Given the description of an element on the screen output the (x, y) to click on. 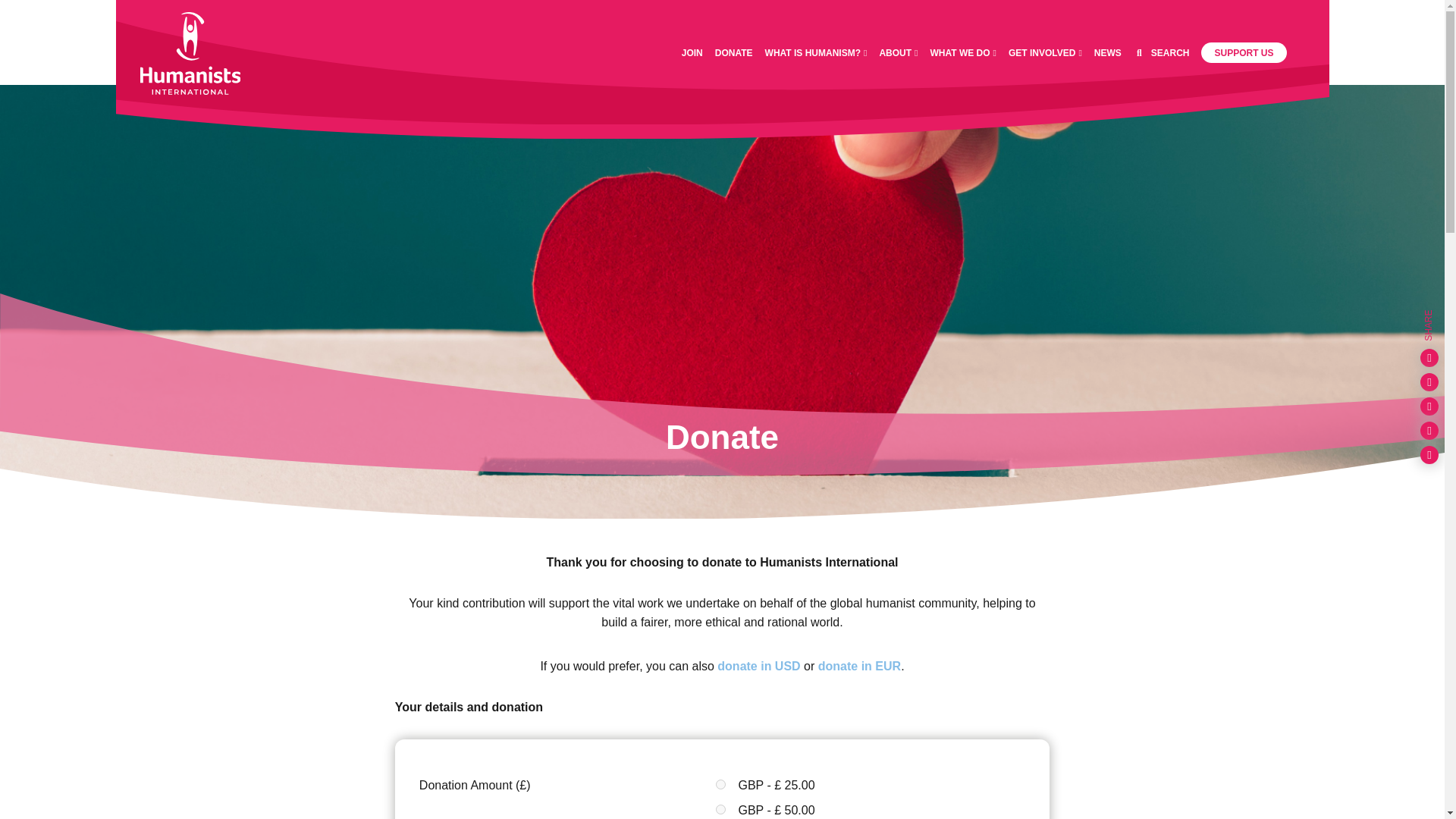
55 (720, 809)
WHAT IS HUMANISM? (816, 52)
DONATE (733, 52)
ABOUT (898, 52)
WHAT WE DO (962, 52)
JOIN (692, 52)
GET INVOLVED (1045, 52)
54 (720, 784)
